Given the description of an element on the screen output the (x, y) to click on. 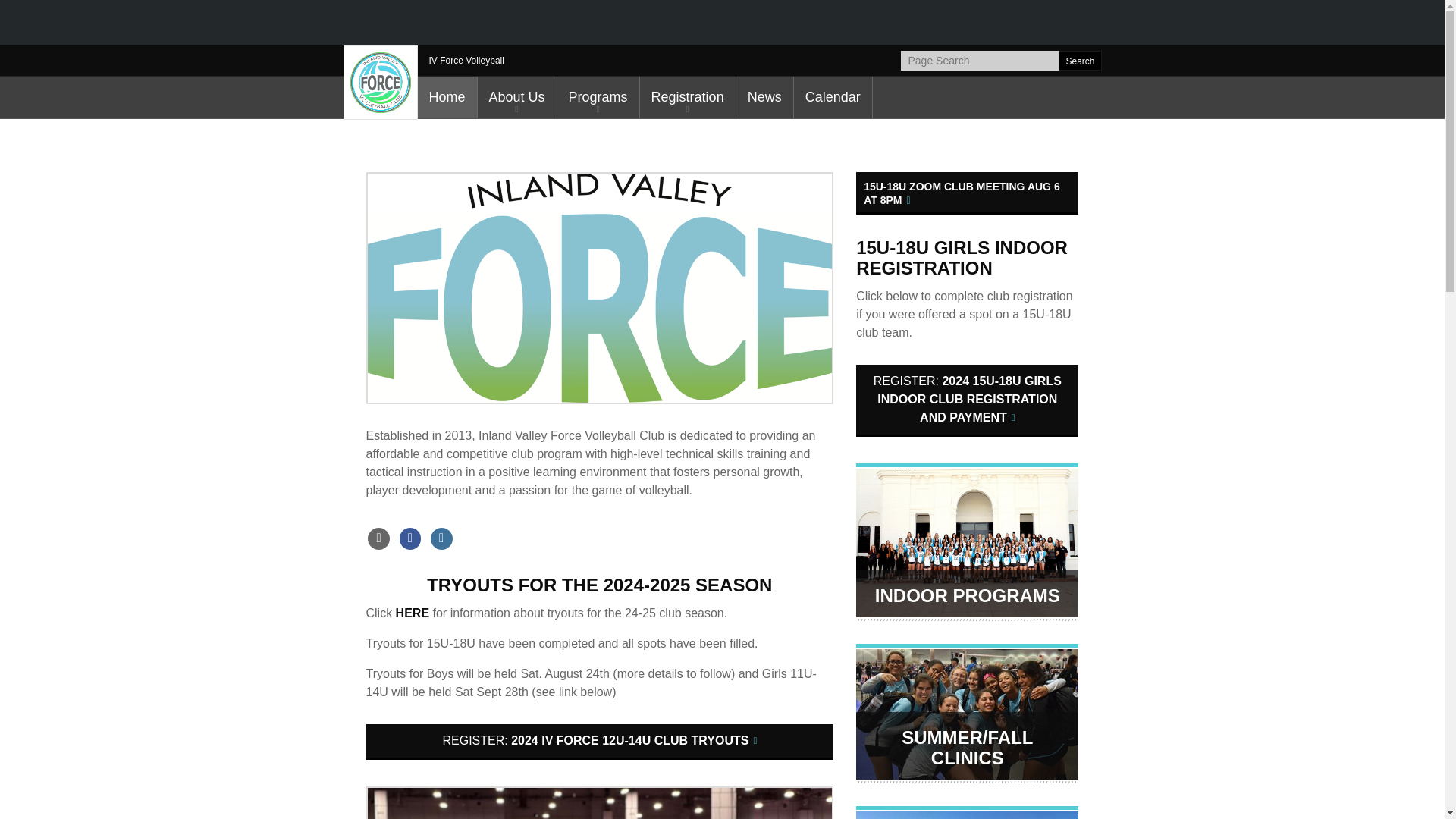
Calendar (832, 96)
15U-18U ZOOM CLUB MEETING AUG 6 AT 8PM (967, 192)
click to go to 'Home' (446, 96)
click to go to 'News' (764, 96)
Instagram (441, 538)
Registration (687, 96)
REGISTER: 2024 IV FORCE 12U-14U CLUB TRYOUTS (598, 741)
Programs (598, 96)
News (764, 96)
click to go to 'Registration' (687, 96)
HERE (412, 612)
click to go to 'About Us' (516, 96)
Home (446, 96)
click to go to 'Calendar' (832, 96)
E-Mail (379, 538)
